Given the description of an element on the screen output the (x, y) to click on. 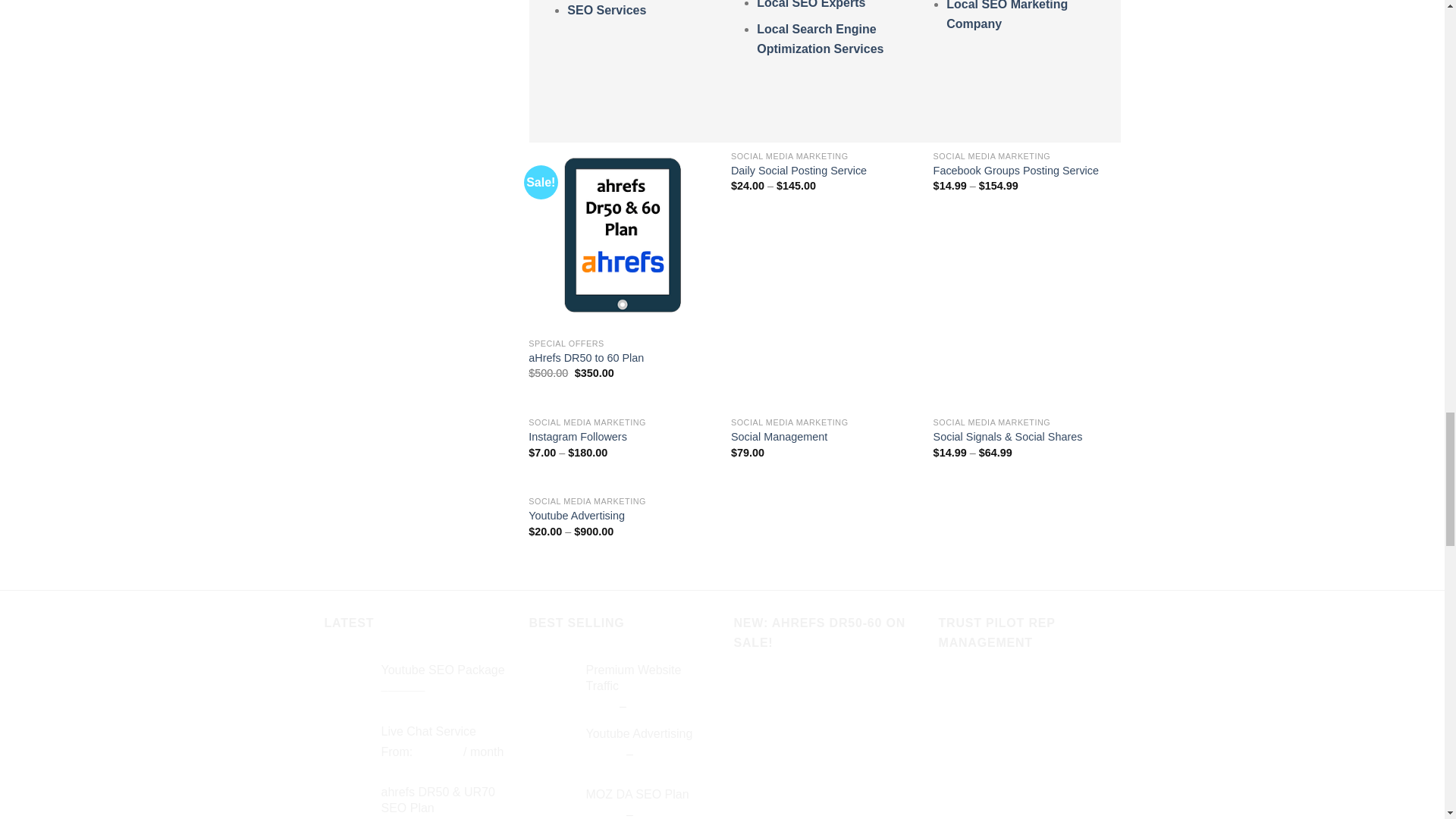
Local SEO Marketing Company (1006, 15)
SEO Services (606, 10)
Local Search Engine Optimization Services (820, 38)
Local SEO Experts (810, 4)
